Given the description of an element on the screen output the (x, y) to click on. 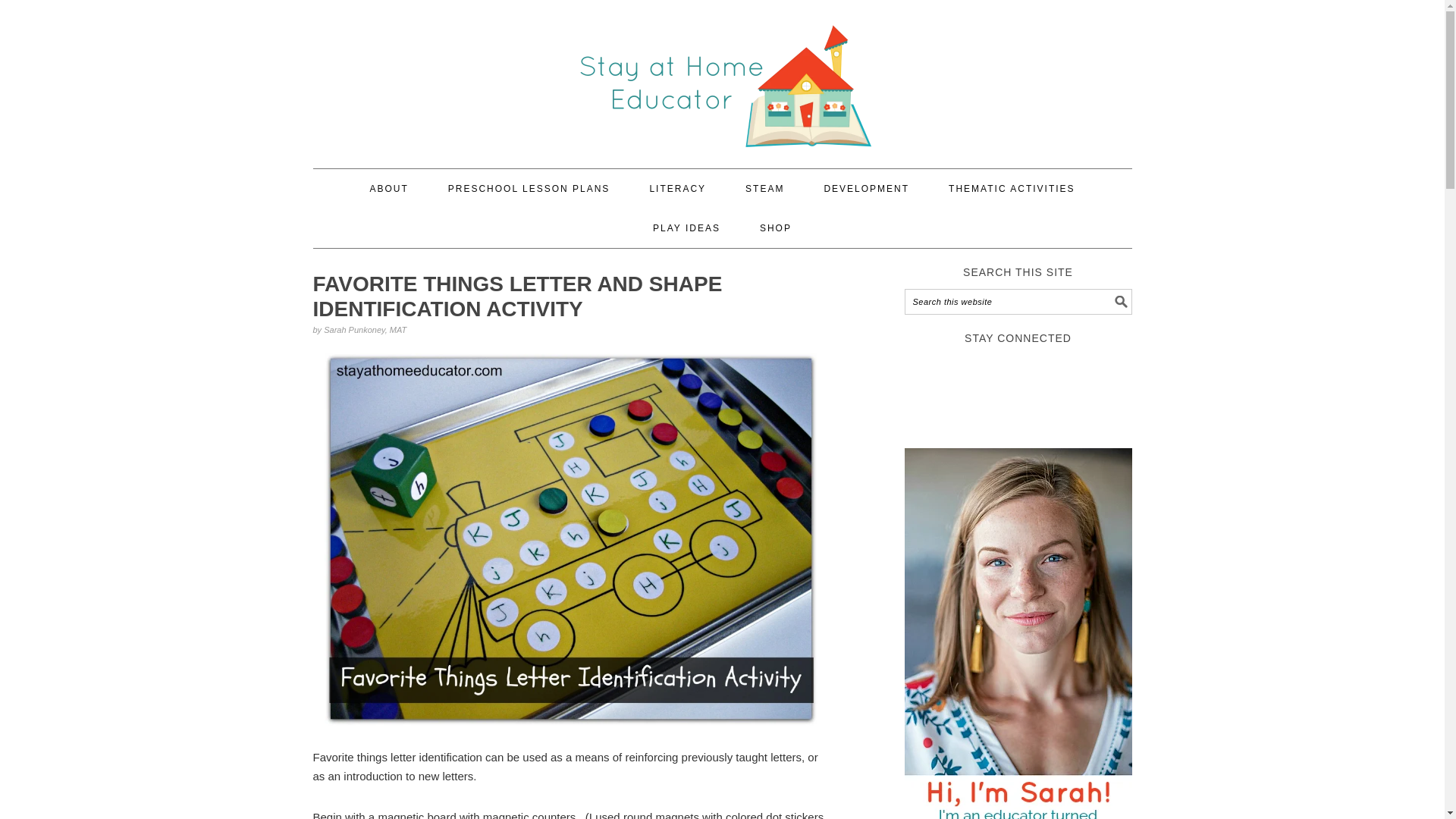
THEMATIC ACTIVITIES (1011, 188)
STAY AT HOME EDUCATOR (722, 77)
STEAM (764, 188)
PLAY IDEAS (686, 228)
ABOUT (388, 188)
PRESCHOOL LESSON PLANS (528, 188)
DEVELOPMENT (866, 188)
Sarah Punkoney, MAT (364, 329)
